Given the description of an element on the screen output the (x, y) to click on. 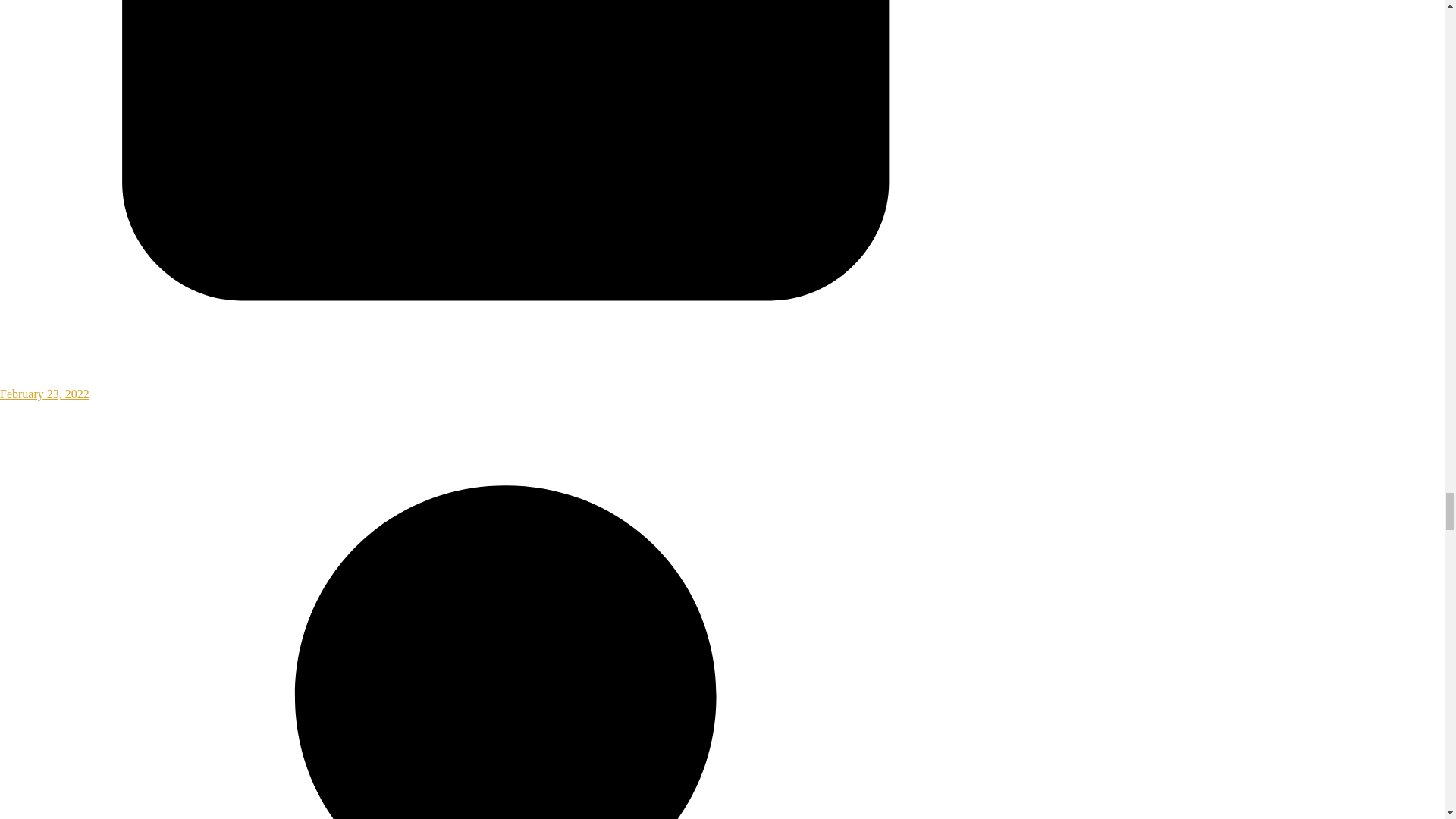
12:24 pm (505, 386)
February 23, 2022 (505, 386)
